Given the description of an element on the screen output the (x, y) to click on. 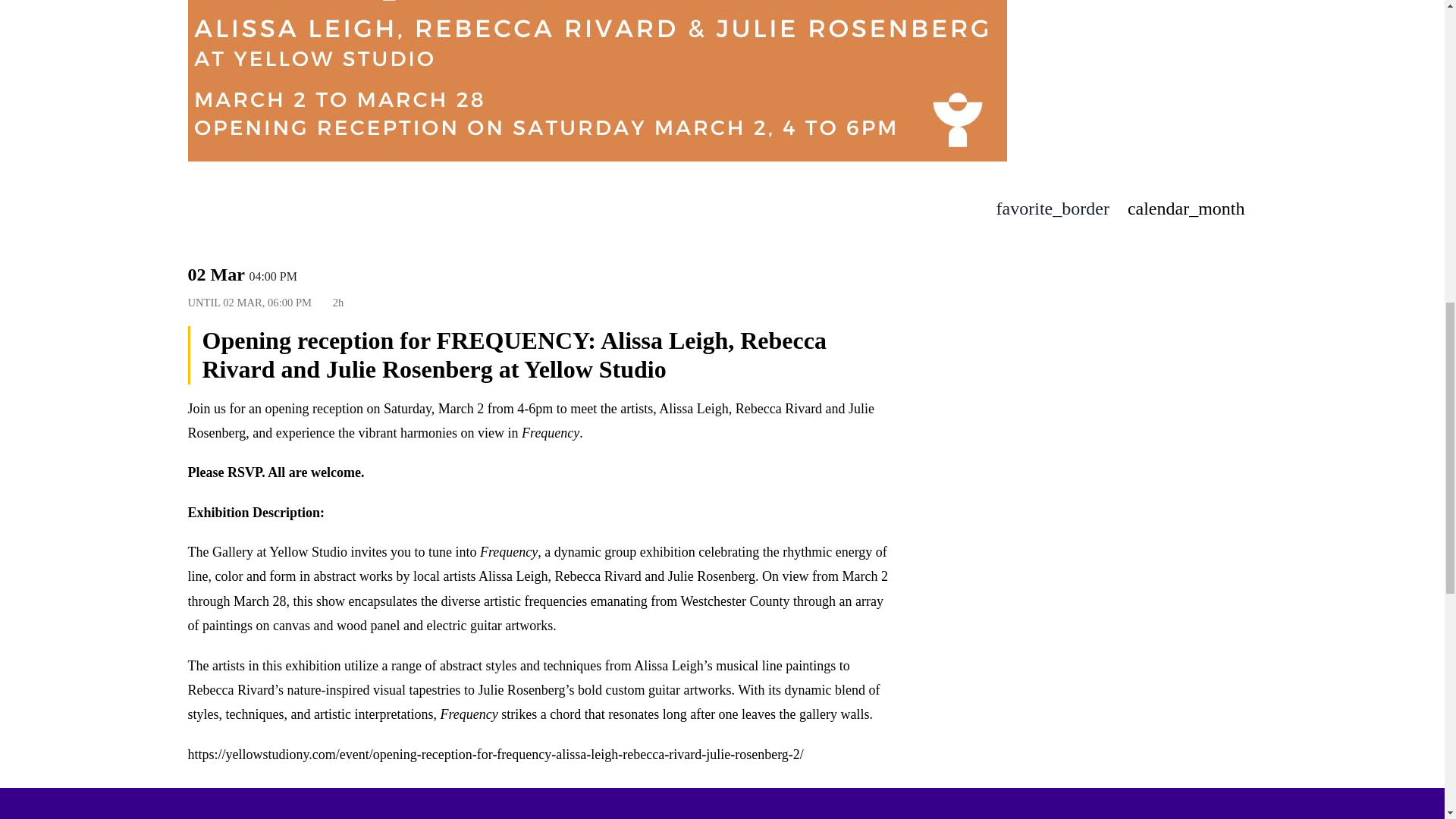
Add To Wishlist (1058, 209)
